Given the description of an element on the screen output the (x, y) to click on. 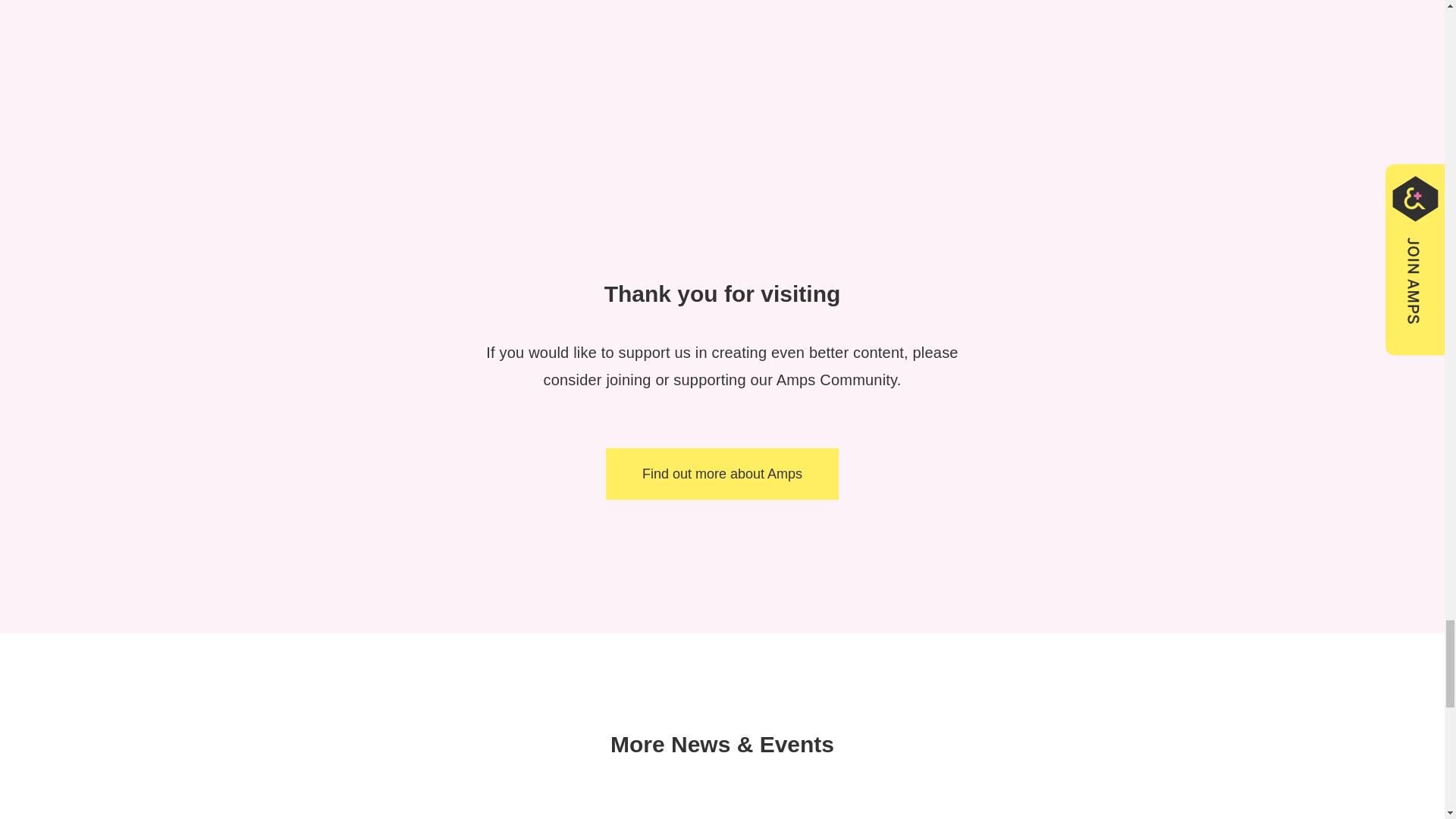
Find out more about Amps (721, 473)
